Given the description of an element on the screen output the (x, y) to click on. 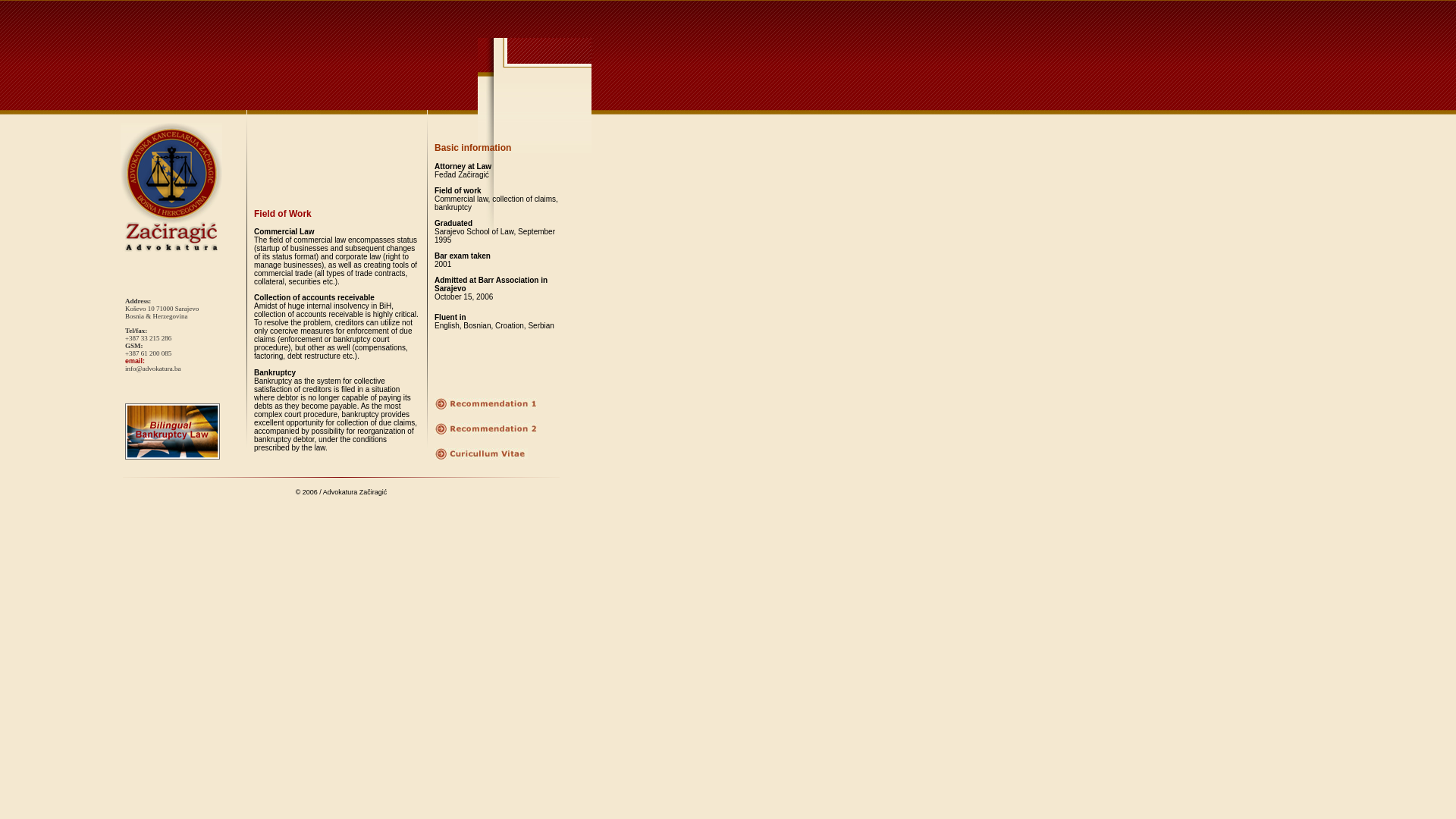
email: Element type: text (134, 360)
